Given the description of an element on the screen output the (x, y) to click on. 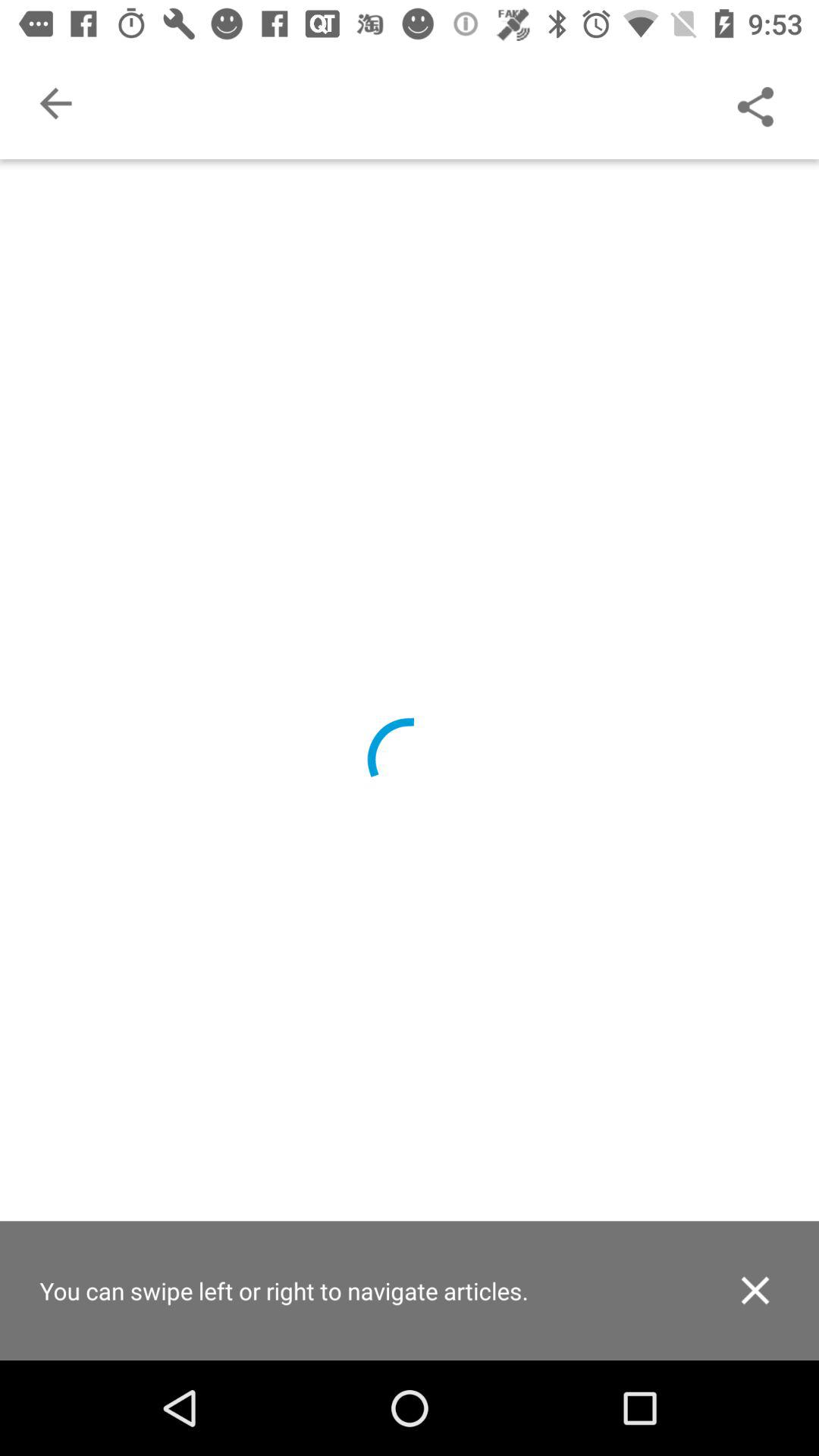
press item to the right of you can swipe item (755, 1290)
